Given the description of an element on the screen output the (x, y) to click on. 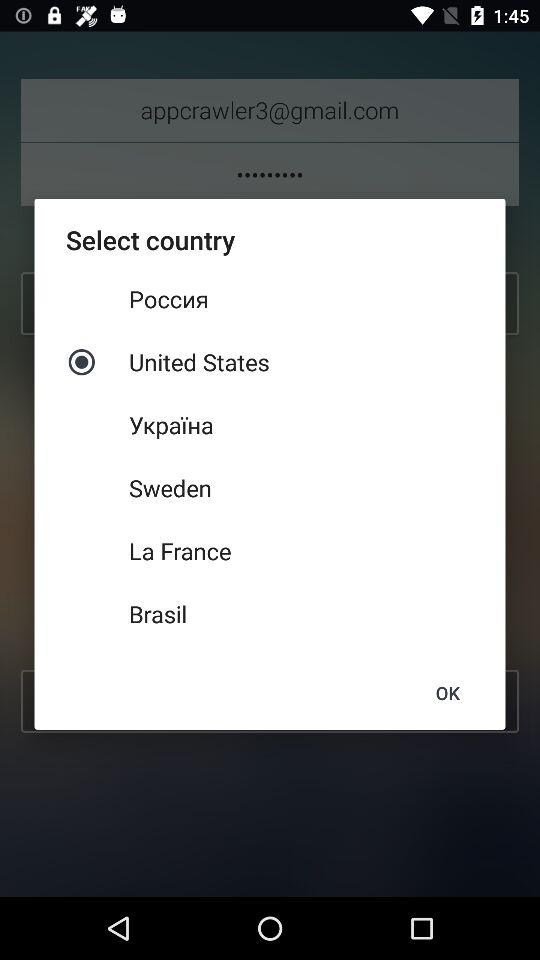
swipe to ok (447, 692)
